Given the description of an element on the screen output the (x, y) to click on. 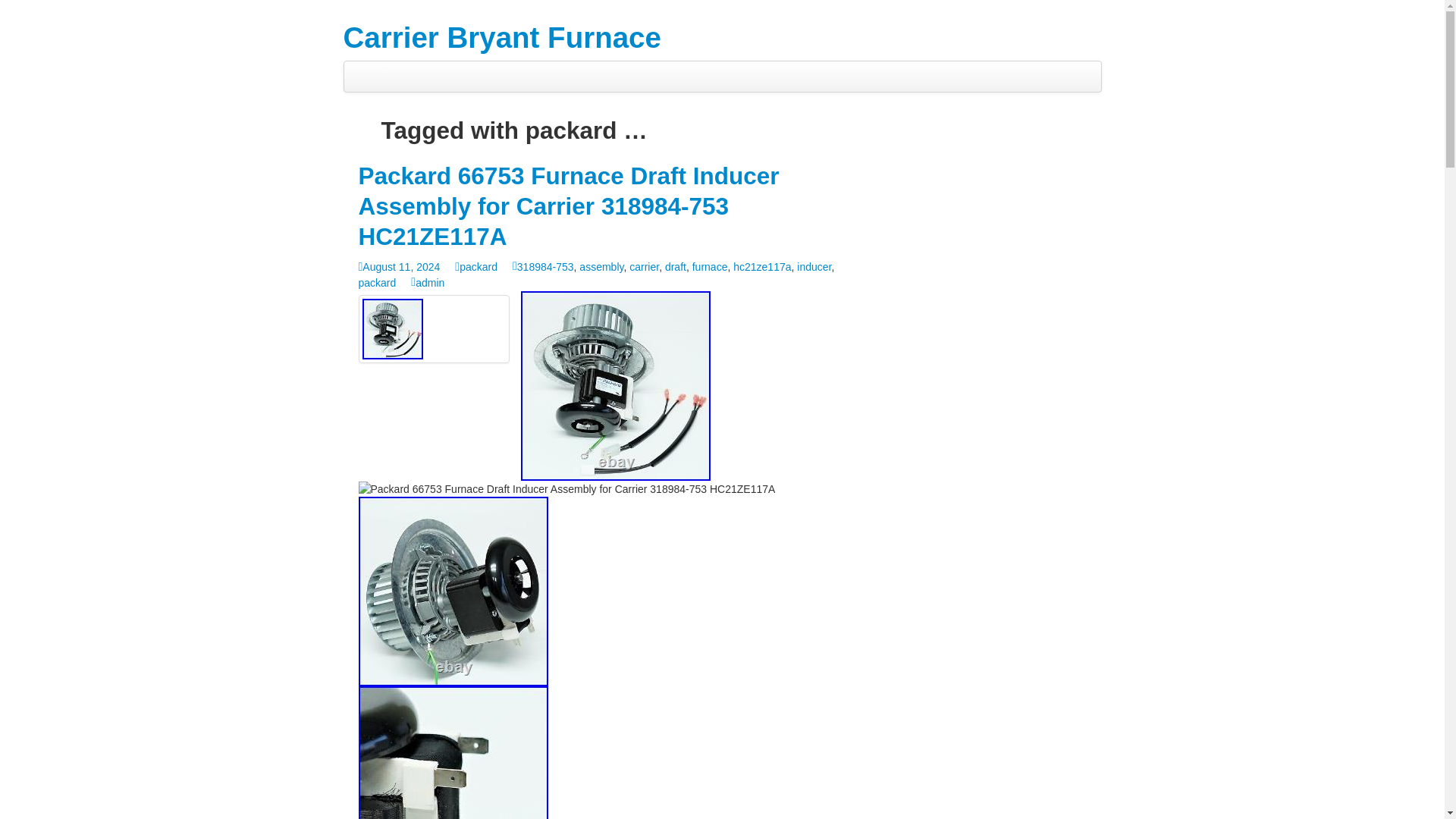
assembly (601, 266)
August 11, 2024 (398, 266)
furnace (710, 266)
inducer (813, 266)
hc21ze117a (761, 266)
admin (427, 282)
packard (377, 282)
318984-753 (542, 266)
